Given the description of an element on the screen output the (x, y) to click on. 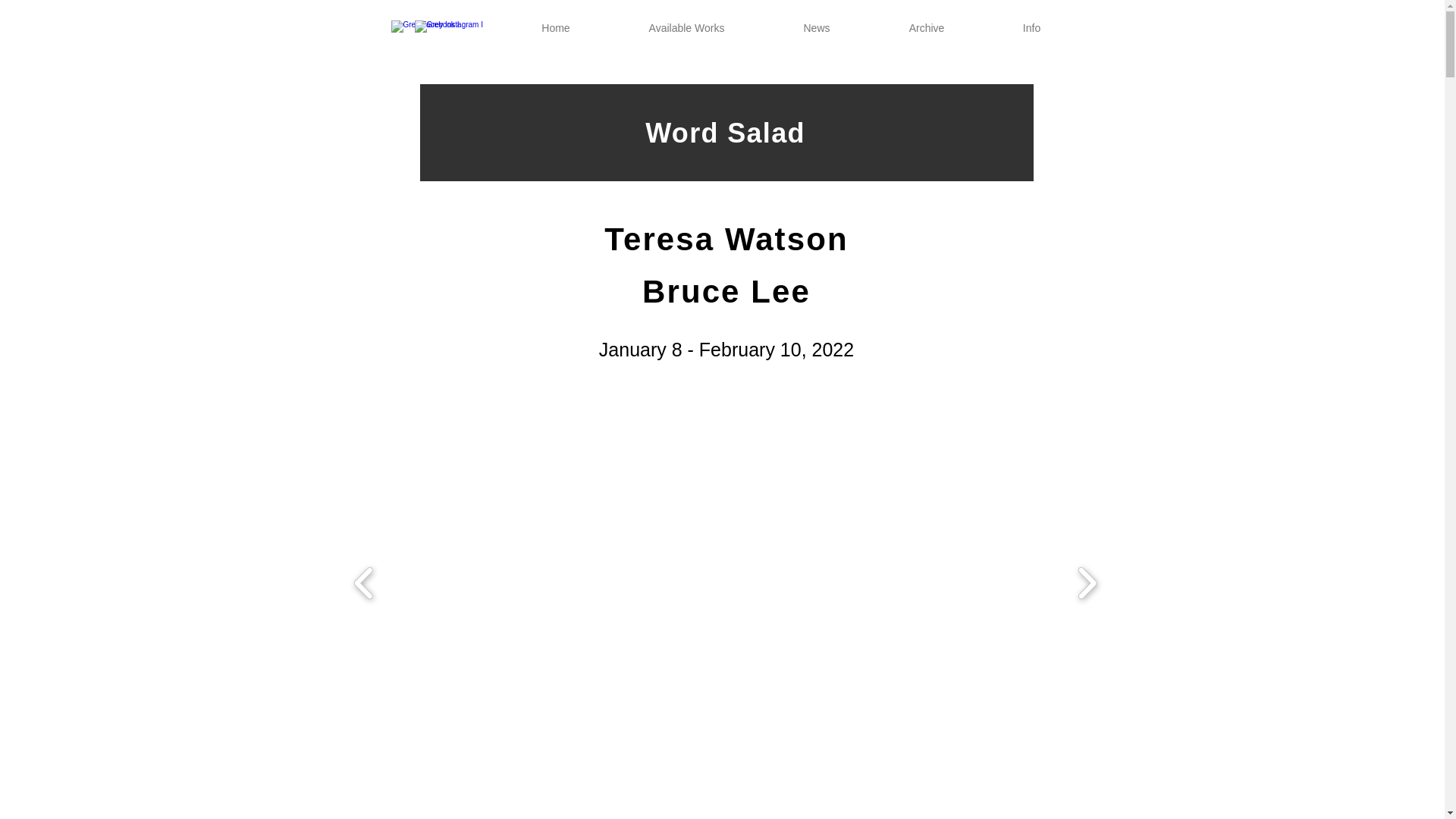
Home (555, 27)
Archive (926, 27)
Info (1032, 27)
Available Works (687, 27)
News (816, 27)
